Given the description of an element on the screen output the (x, y) to click on. 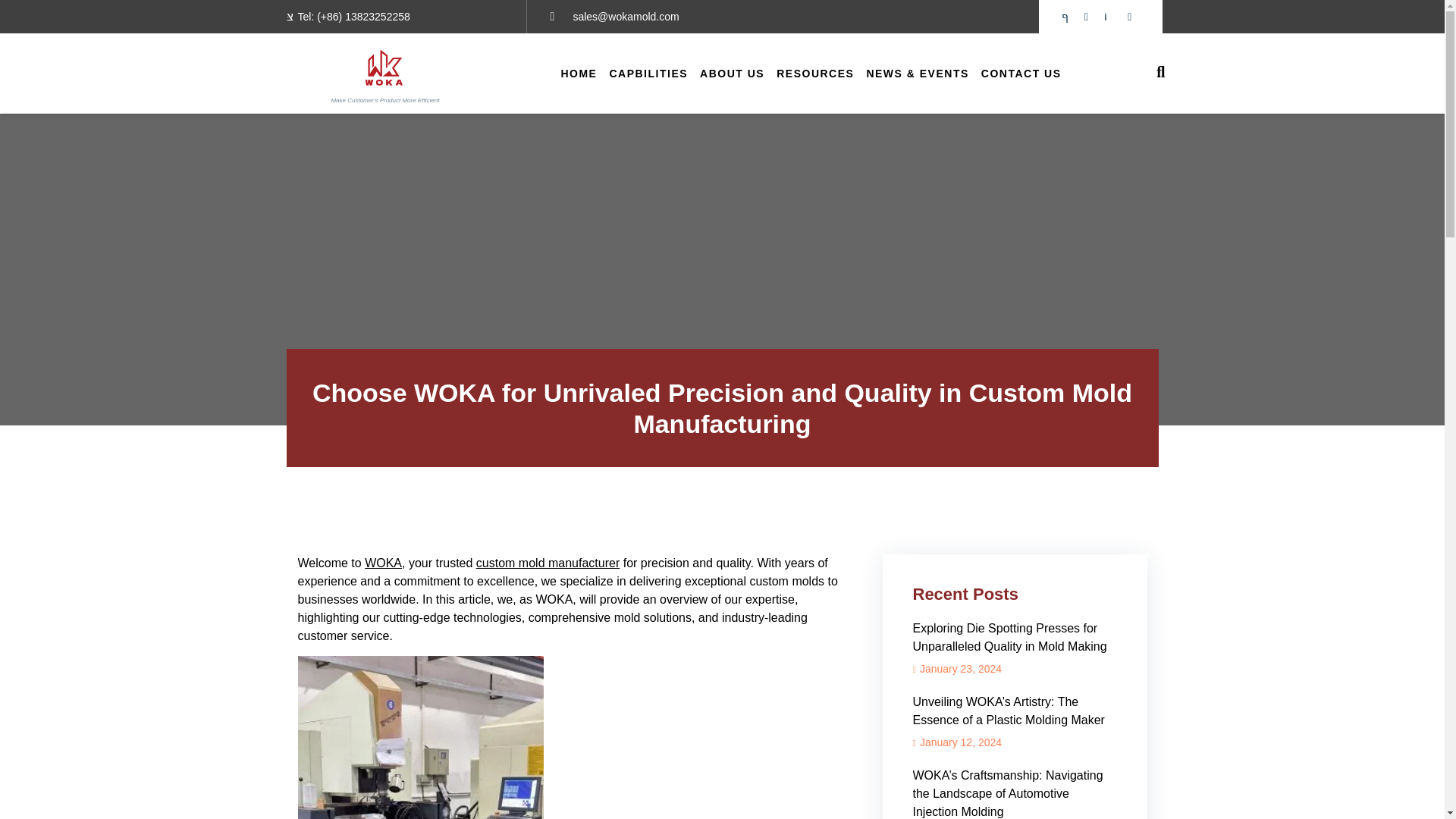
RESOURCES (815, 72)
WOKA (383, 562)
custom mold manufacturer (548, 562)
HOME (578, 72)
CONTACT US (1021, 72)
ABOUT US (732, 72)
CAPBILITIES (648, 72)
